Given the description of an element on the screen output the (x, y) to click on. 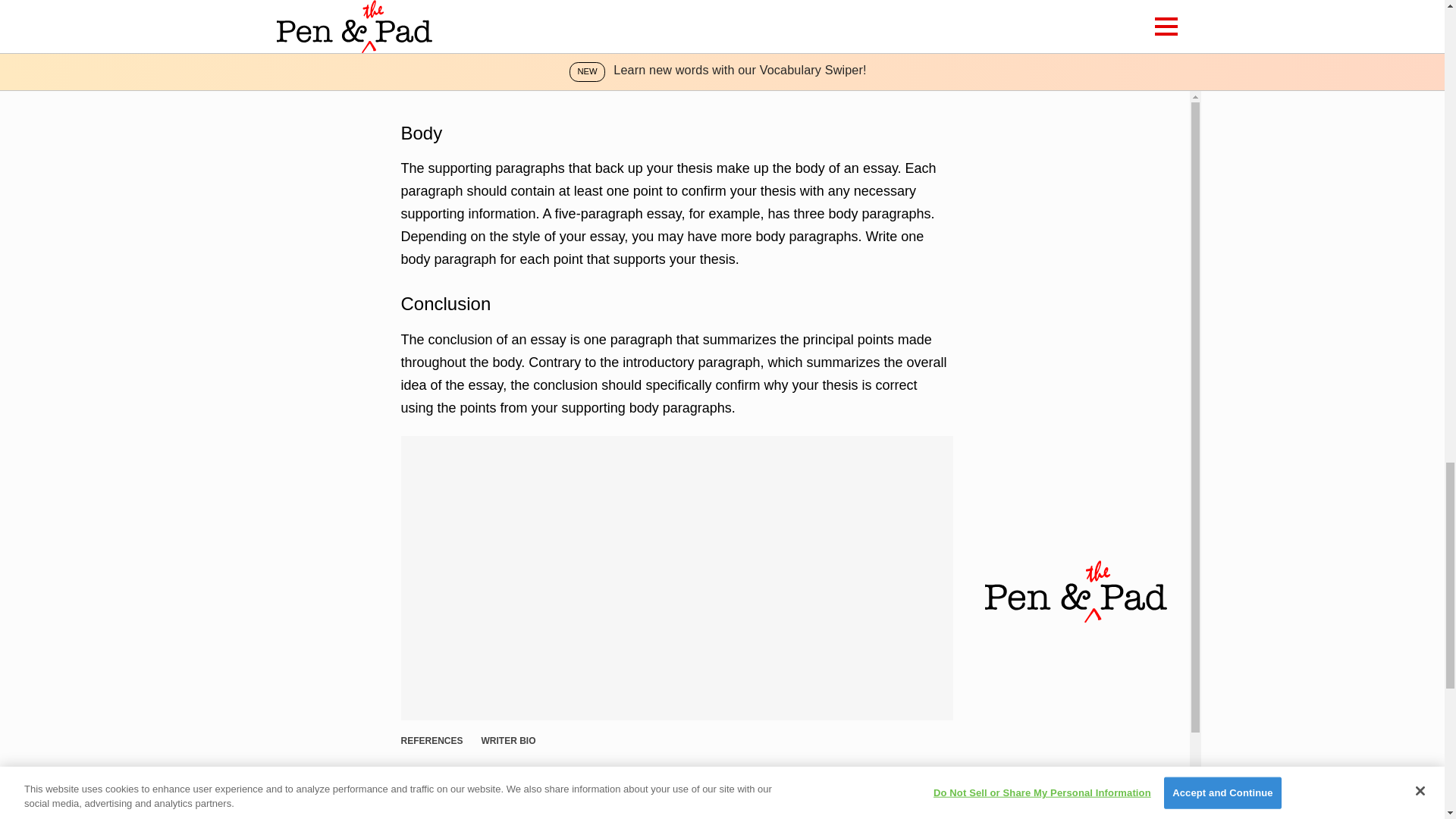
Cite this Article (450, 782)
3rd party ad content (676, 49)
